Given the description of an element on the screen output the (x, y) to click on. 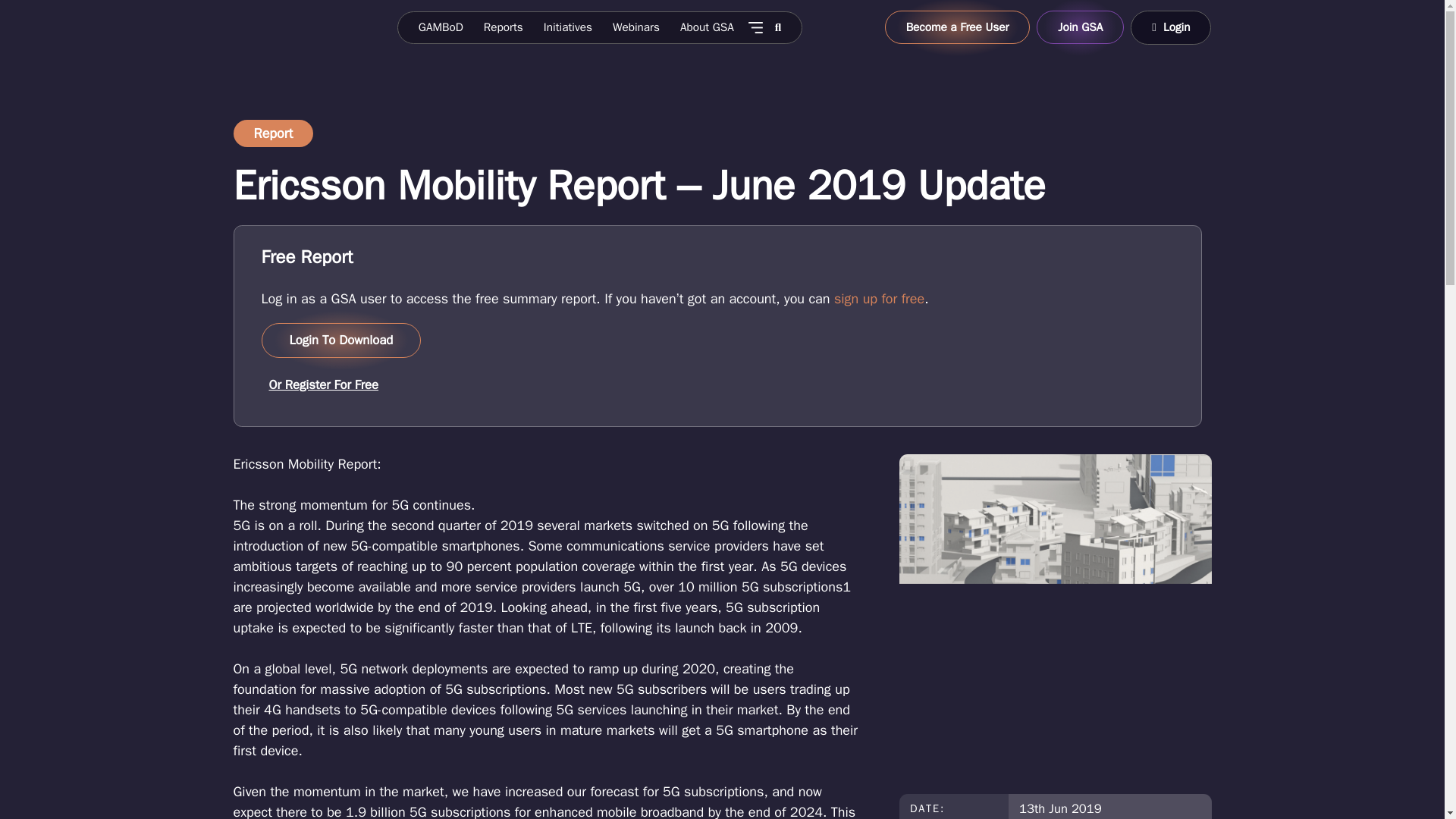
GAMBoD (440, 27)
Reports (502, 27)
About GSA (706, 27)
Webinars (635, 27)
Initiatives (567, 27)
